Given the description of an element on the screen output the (x, y) to click on. 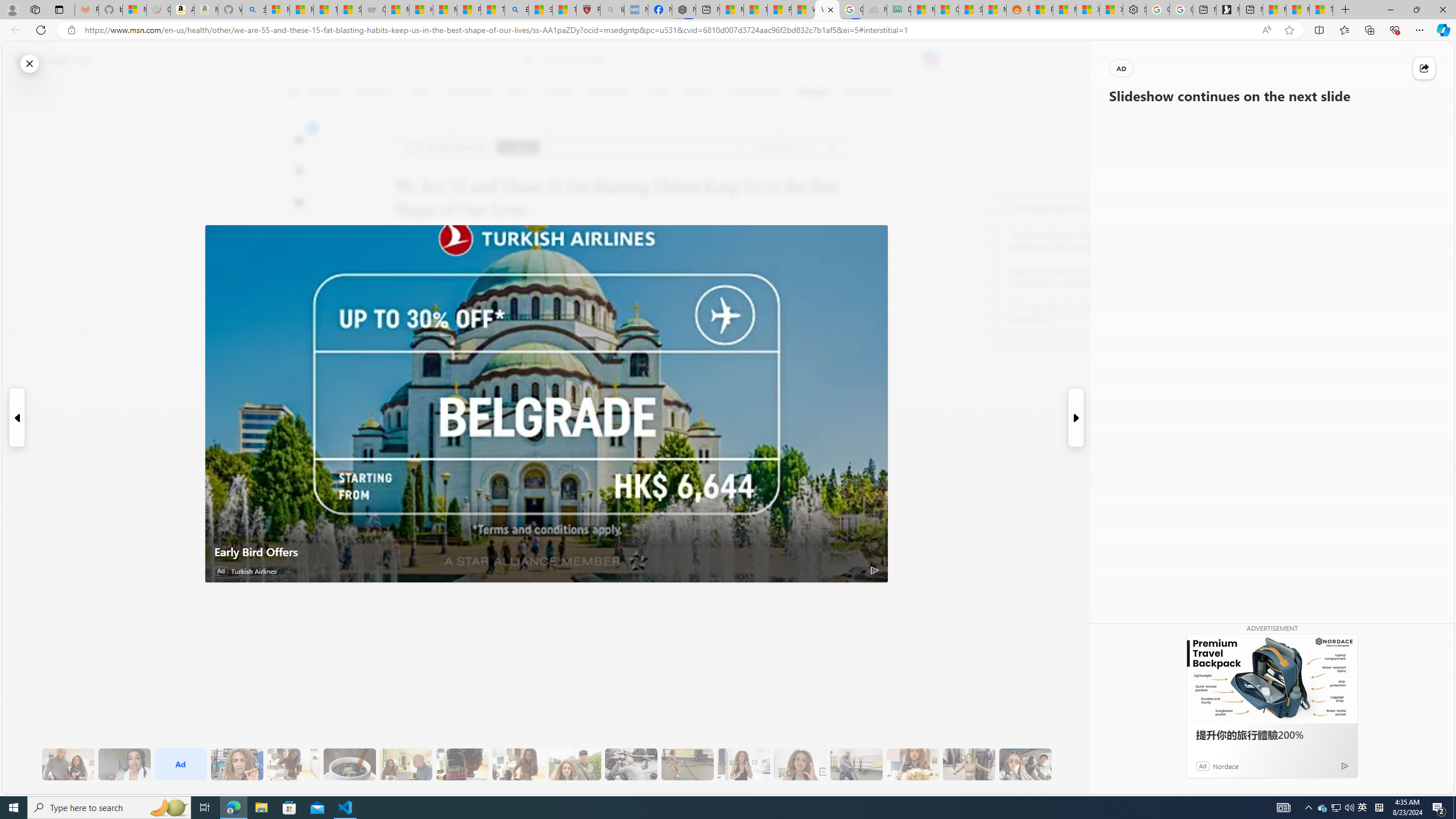
8 Reasons to Drink Kombucha, According to a Nutritionist (1071, 277)
8 They Walk to the Gym (574, 764)
